Given the description of an element on the screen output the (x, y) to click on. 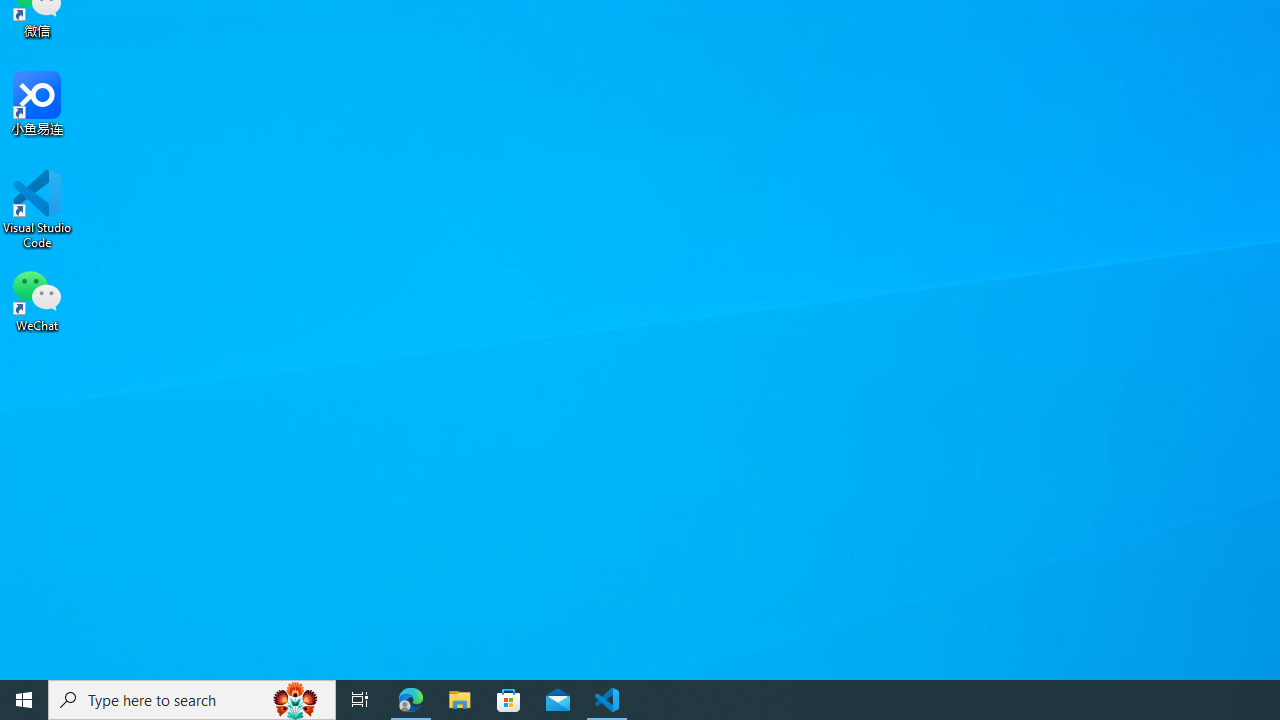
WeChat (37, 299)
Visual Studio Code (37, 209)
Search highlights icon opens search home window (295, 699)
Task View (359, 699)
Visual Studio Code - 1 running window (607, 699)
Start (24, 699)
File Explorer (460, 699)
Microsoft Edge - 1 running window (411, 699)
Type here to search (191, 699)
Microsoft Store (509, 699)
